Given the description of an element on the screen output the (x, y) to click on. 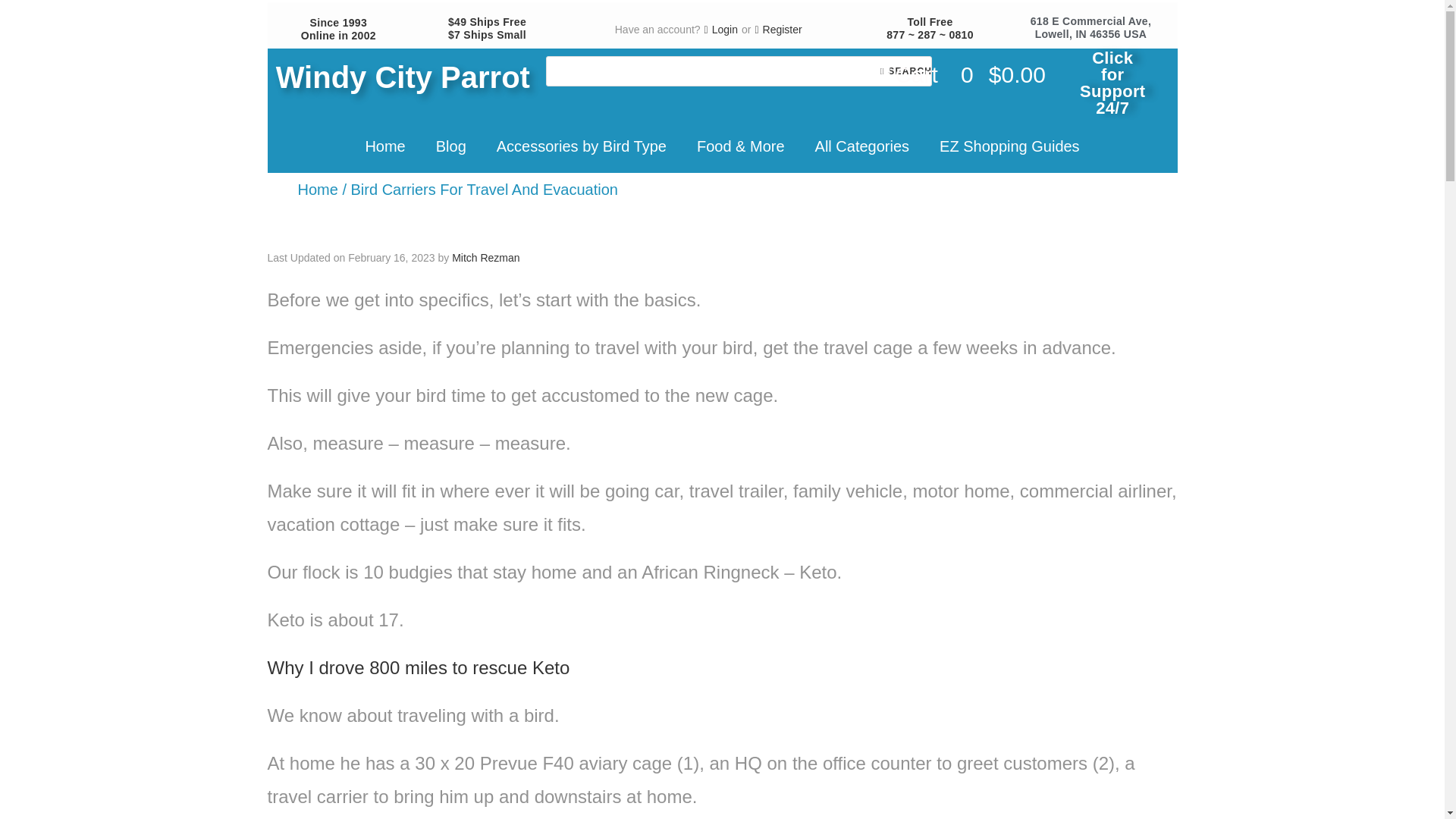
EZ Shopping Guides (1009, 145)
Home (384, 145)
Accessories by Bird Type (581, 145)
Register (778, 29)
Home (317, 189)
Windy City Parrot (402, 77)
Login (721, 29)
View your shopping cart (962, 74)
SEARCH (905, 71)
Mitch Rezman (485, 257)
